Given the description of an element on the screen output the (x, y) to click on. 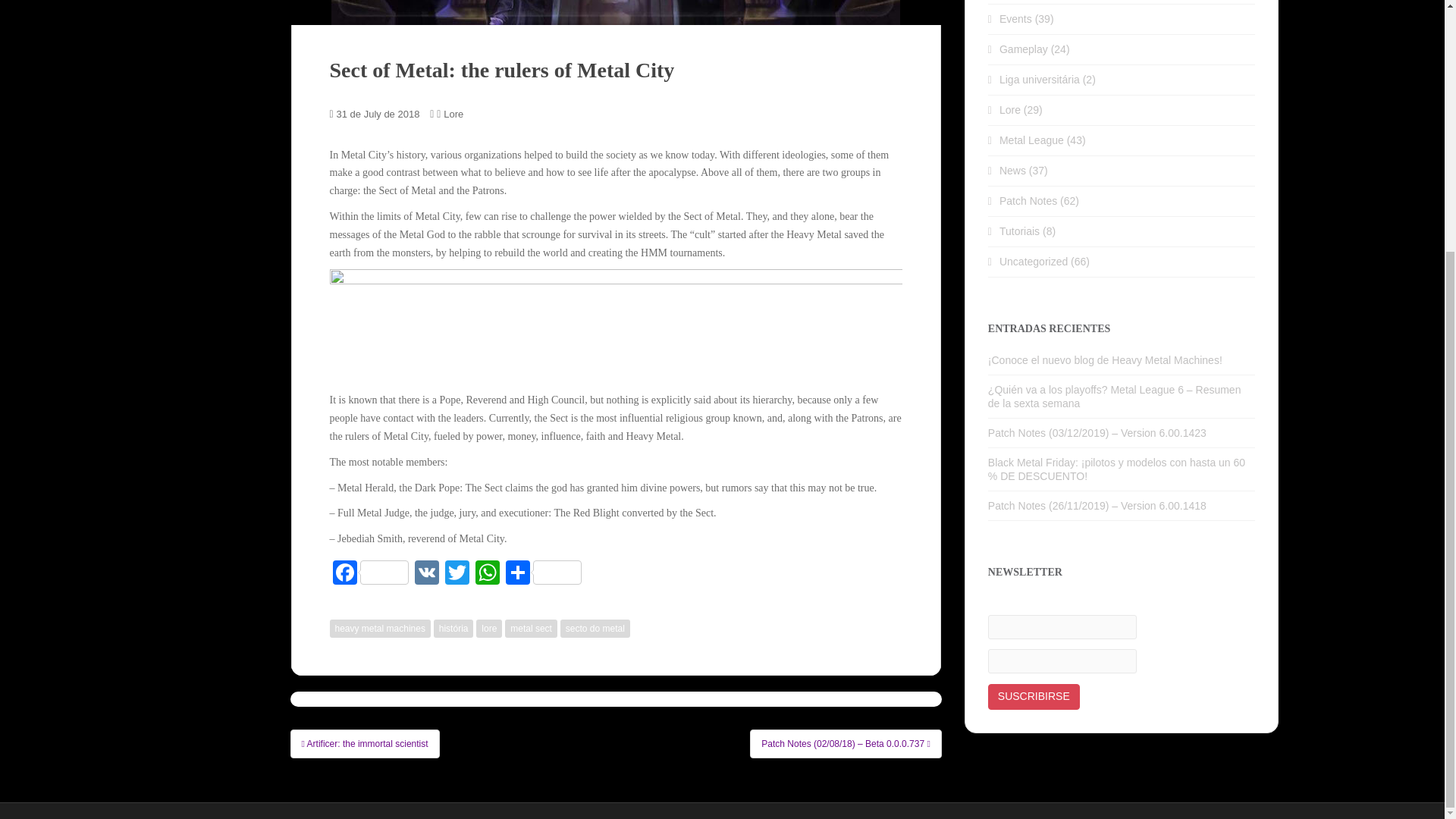
Gameplay (1023, 49)
metal sect (531, 628)
Facebook (369, 574)
WhatsApp (486, 574)
Events (1015, 19)
WhatsApp (486, 574)
lore (489, 628)
News (1012, 170)
heavy metal machines (379, 628)
Lore (1009, 110)
secto do metal (595, 628)
Metal League (1031, 140)
Suscribirse (1034, 696)
Twitter (456, 574)
Artificer: the immortal scientist (364, 743)
